Given the description of an element on the screen output the (x, y) to click on. 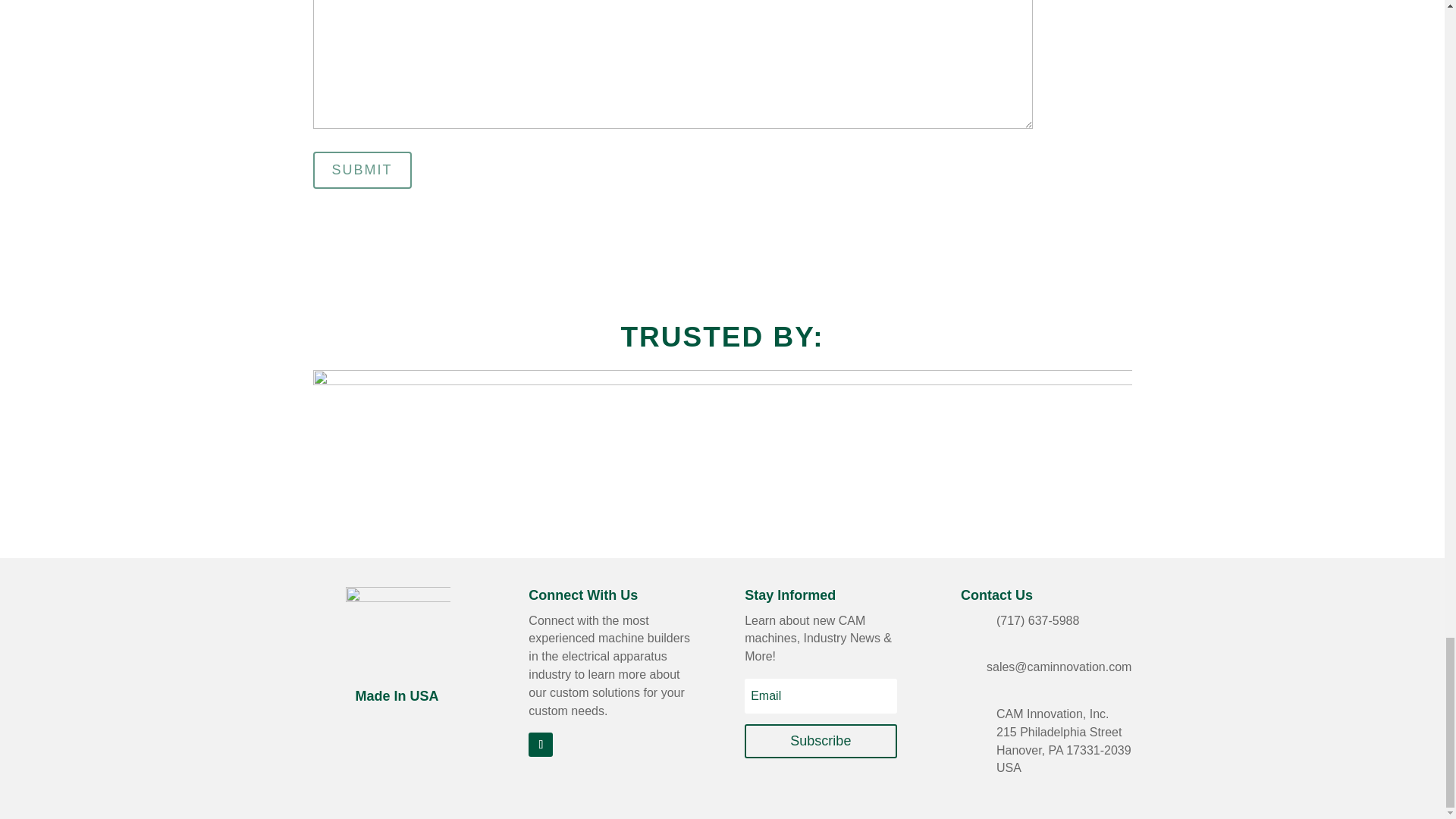
testimonials2 (722, 420)
Follow on LinkedIn (540, 744)
Cam-Innovation-Hanover-PA (397, 639)
SUBMIT (361, 170)
